Given the description of an element on the screen output the (x, y) to click on. 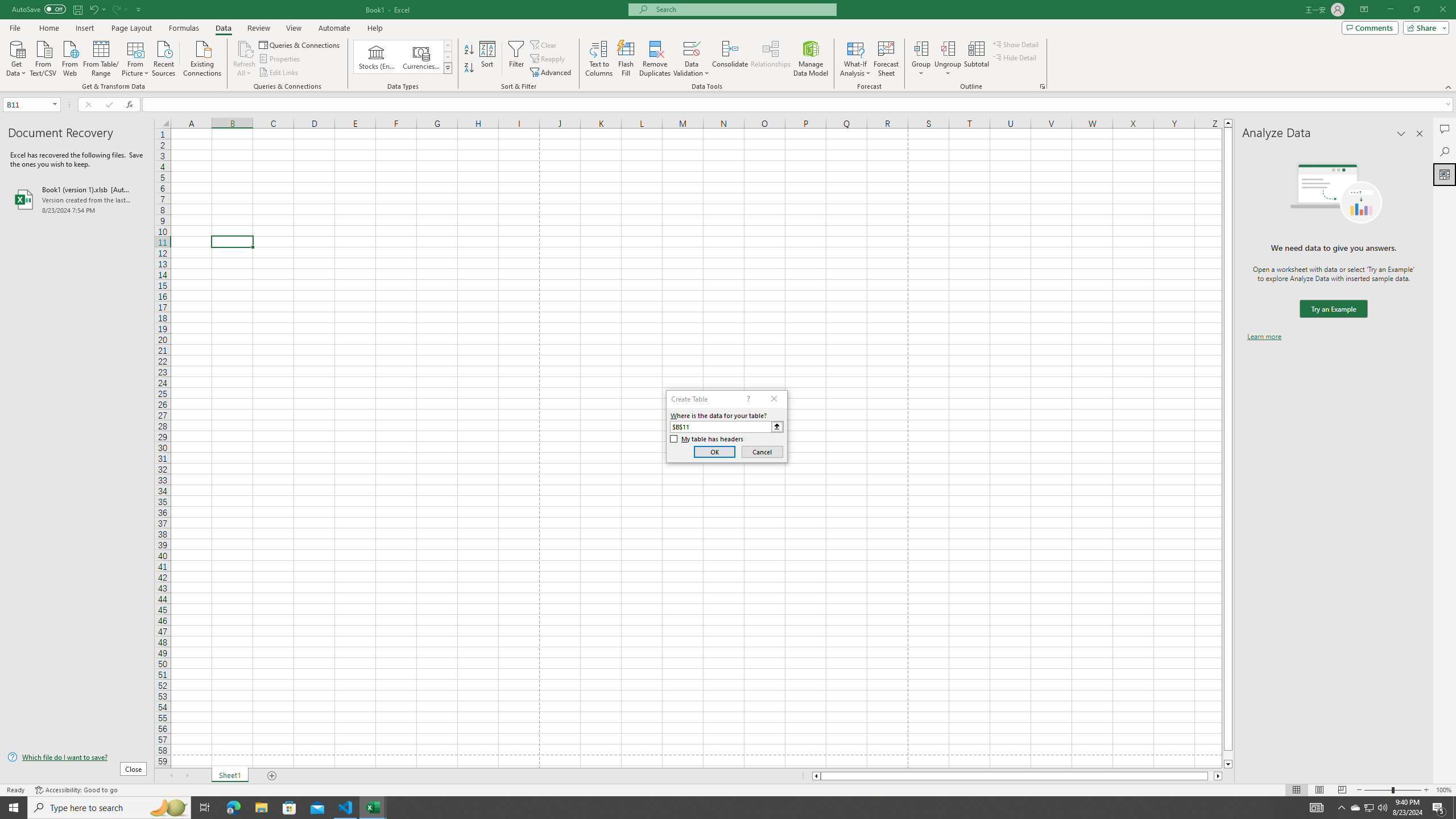
Show Detail (1016, 44)
Sort... (487, 58)
Formula Bar (799, 104)
AutomationID: ConvertToLinkedEntity (403, 56)
Search (1444, 151)
Flash Fill (625, 58)
Edit Links (279, 72)
Filter (515, 58)
